Given the description of an element on the screen output the (x, y) to click on. 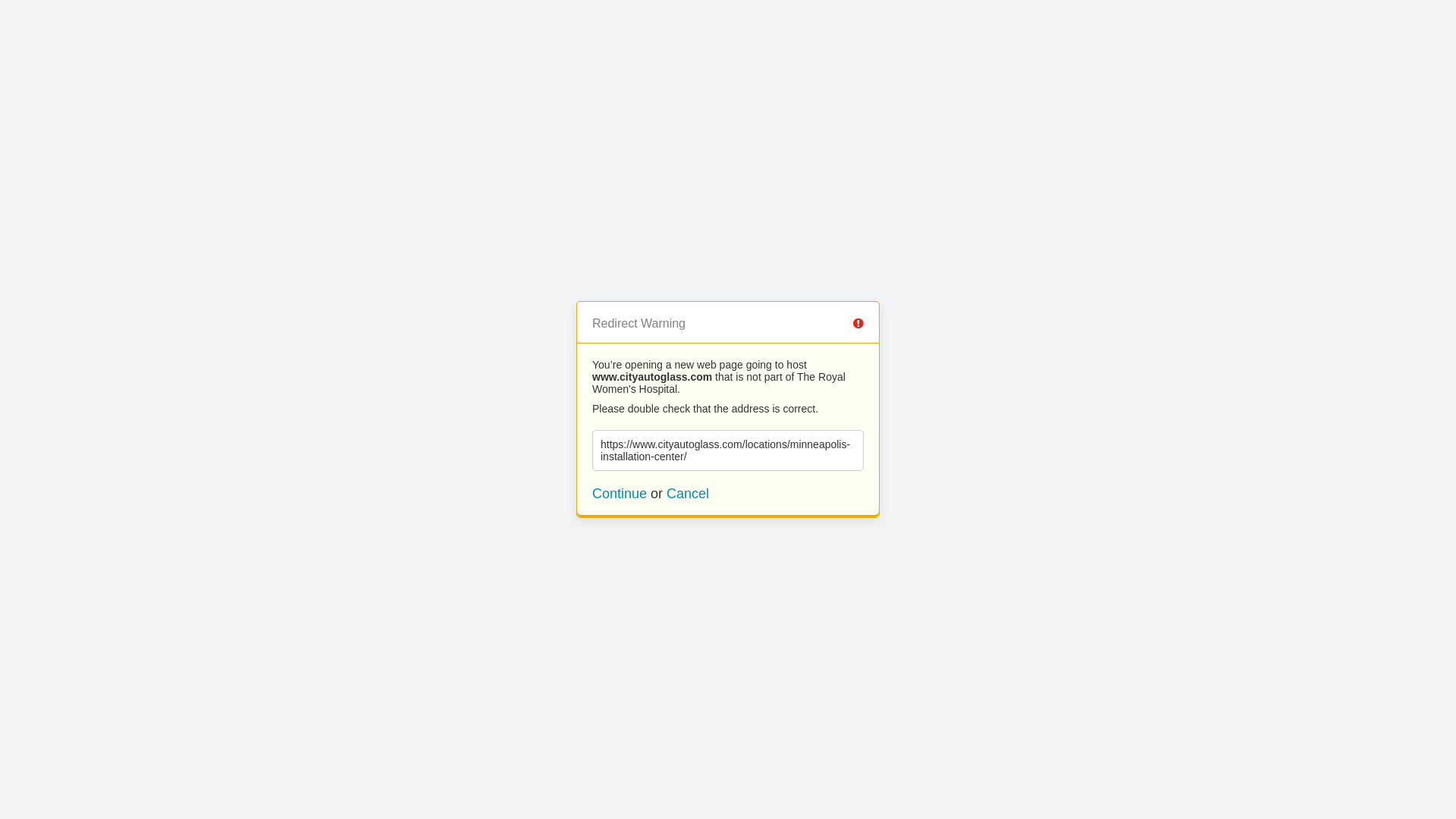
Cancel Element type: text (687, 493)
Continue Element type: text (619, 493)
